Given the description of an element on the screen output the (x, y) to click on. 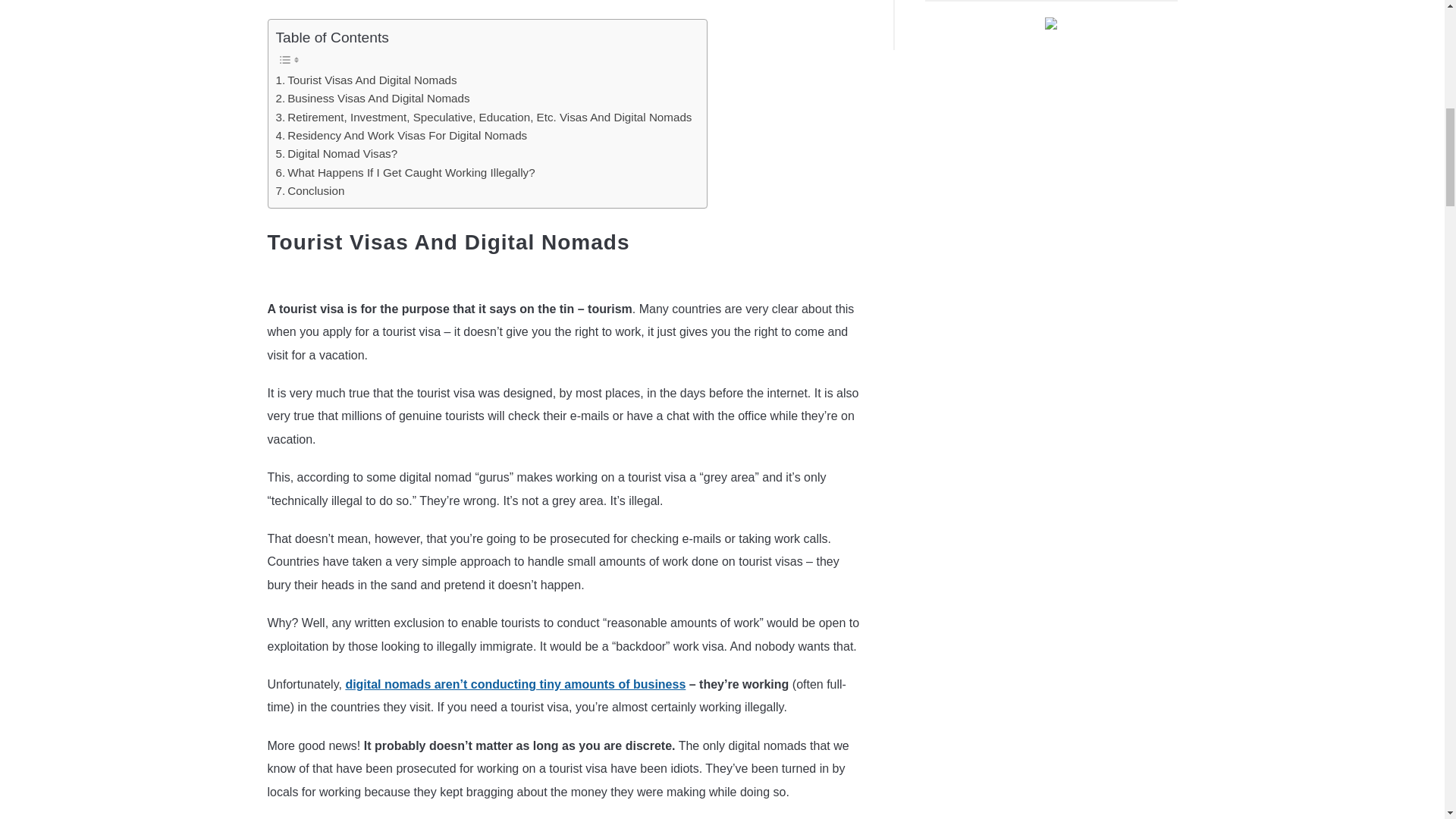
Residency And Work Visas For Digital Nomads (401, 135)
Business Visas And Digital Nomads (373, 98)
Business Visas And Digital Nomads (373, 98)
Tourist Visas And Digital Nomads (366, 80)
What Happens If I Get Caught Working Illegally? (405, 172)
Conclusion (310, 190)
Digital Nomad Visas? (336, 153)
Residency And Work Visas For Digital Nomads (401, 135)
Conclusion (310, 190)
What Happens If I Get Caught Working Illegally? (405, 172)
Digital Nomad Visas? (336, 153)
Tourist Visas And Digital Nomads (366, 80)
